Given the description of an element on the screen output the (x, y) to click on. 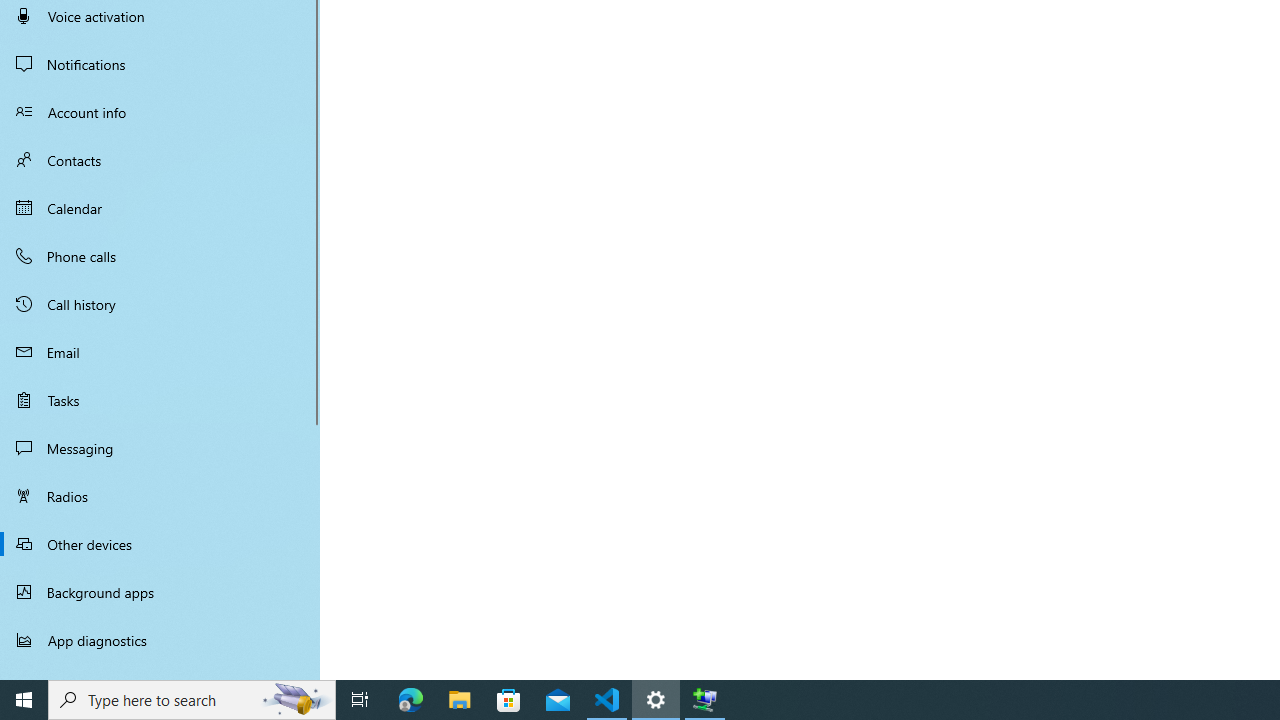
Calendar (160, 207)
Background apps (160, 592)
Settings - 1 running window (656, 699)
Tasks (160, 399)
Call history (160, 304)
Automatic file downloads (160, 671)
Account info (160, 111)
